Given the description of an element on the screen output the (x, y) to click on. 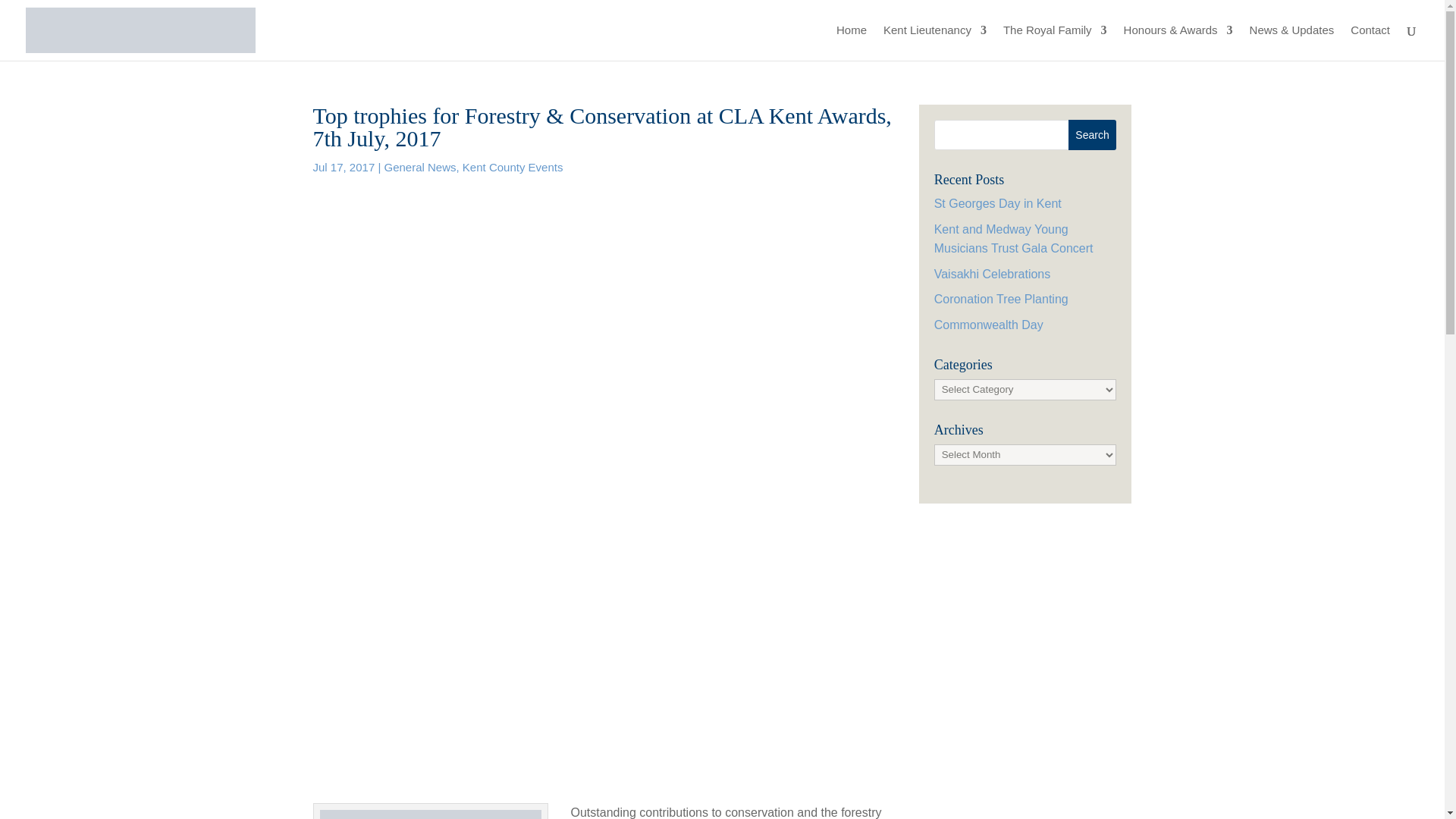
Commonwealth Day (988, 324)
General News (419, 166)
Kent Lieutenancy (935, 42)
Search (1092, 134)
Kent and Medway Young Musicians Trust Gala Concert (1013, 238)
Contact (1370, 42)
Search (1092, 134)
The Royal Family (1054, 42)
Coronation Tree Planting (1001, 298)
Kent County Events (513, 166)
St Georges Day in Kent (997, 203)
Vaisakhi Celebrations (992, 273)
